Given the description of an element on the screen output the (x, y) to click on. 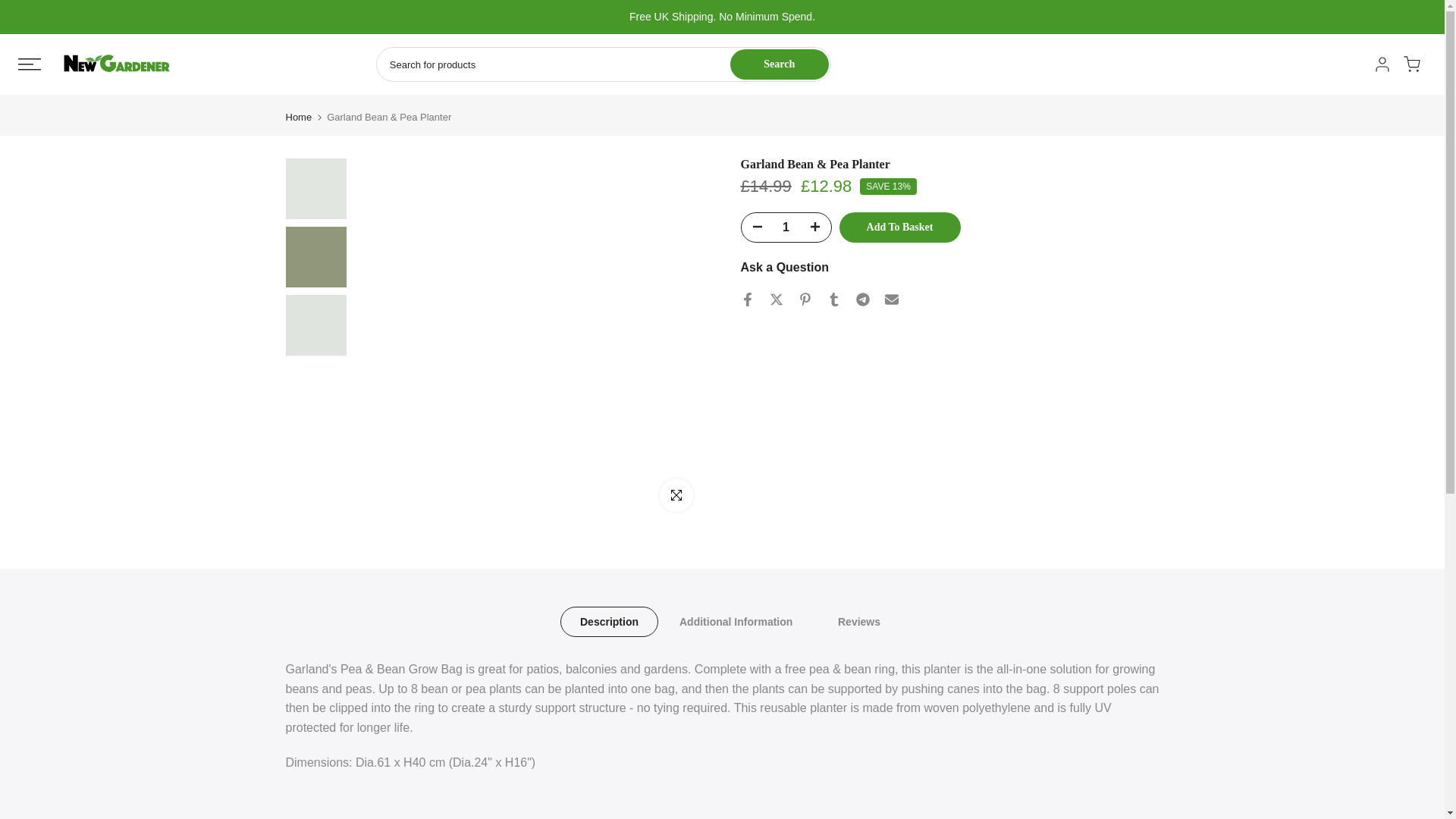
Additional Information (735, 621)
Skip to content (10, 7)
1 (786, 226)
Description (608, 621)
Share with email (890, 299)
Share on Twitter (775, 299)
Home (298, 117)
Search (779, 64)
Share on Pinterest (803, 299)
Share on Telegram (862, 299)
